Given the description of an element on the screen output the (x, y) to click on. 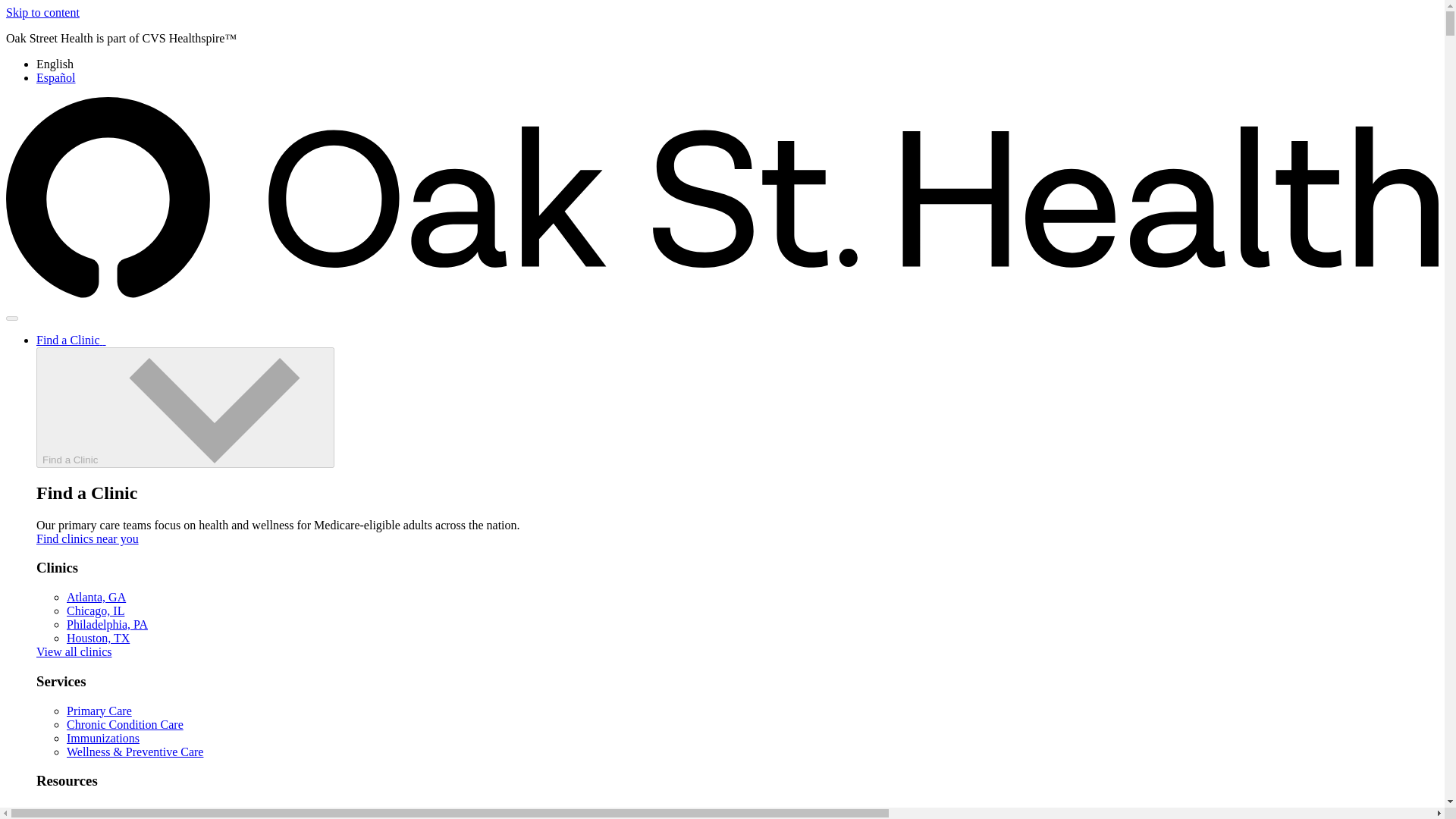
View all clinics (74, 651)
Houston, TX (97, 637)
Immunizations (102, 738)
Skip to content (42, 11)
Find a Clinic (185, 407)
Primary Care (99, 710)
Atlanta, GA (95, 596)
Find a Clinic   (71, 339)
Chronic Condition Care (124, 724)
Philadelphia, PA (107, 624)
Chicago, IL (94, 610)
Find clinics near you (87, 538)
